Given the description of an element on the screen output the (x, y) to click on. 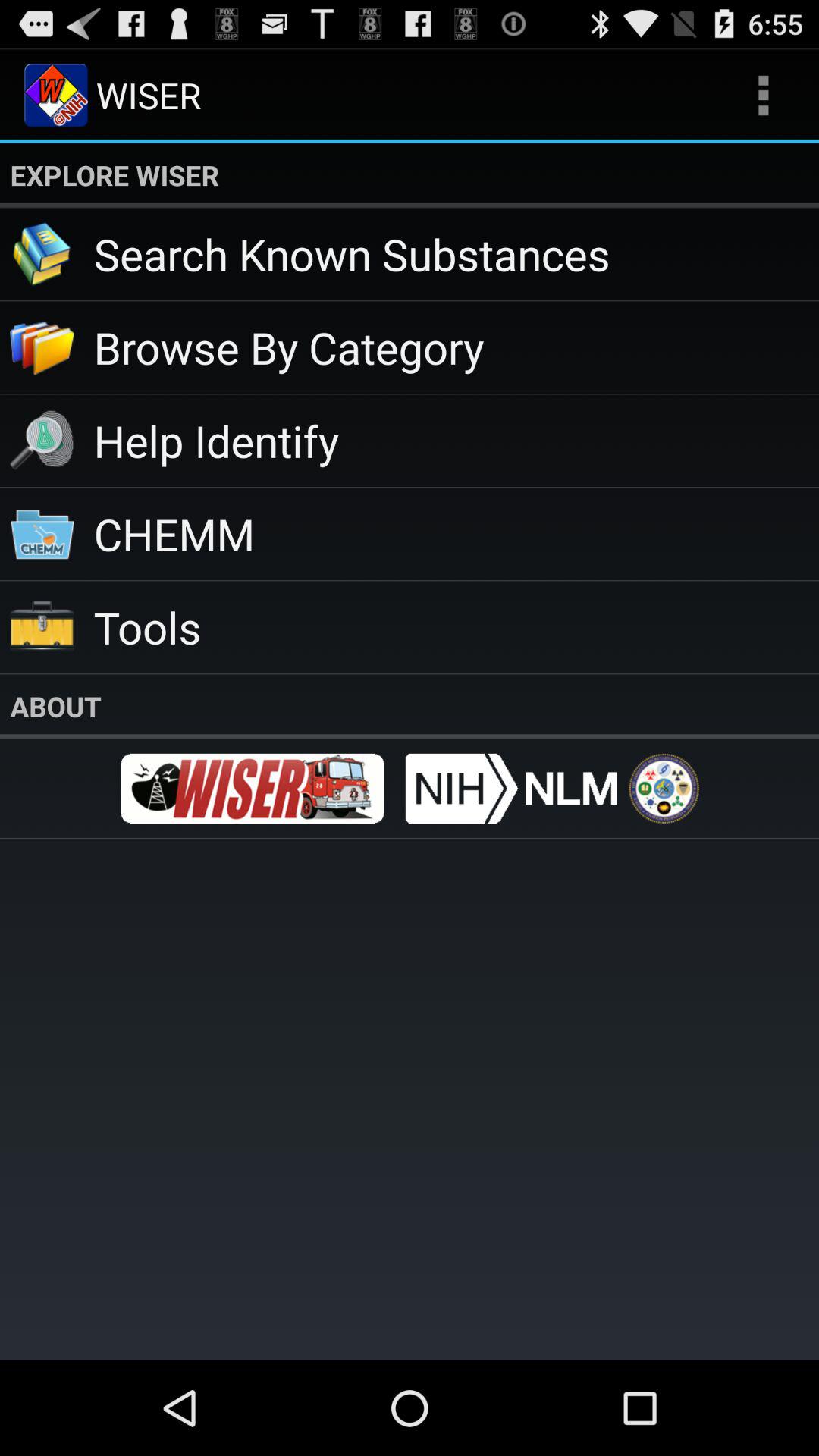
turn on the item below the about item (252, 788)
